Given the description of an element on the screen output the (x, y) to click on. 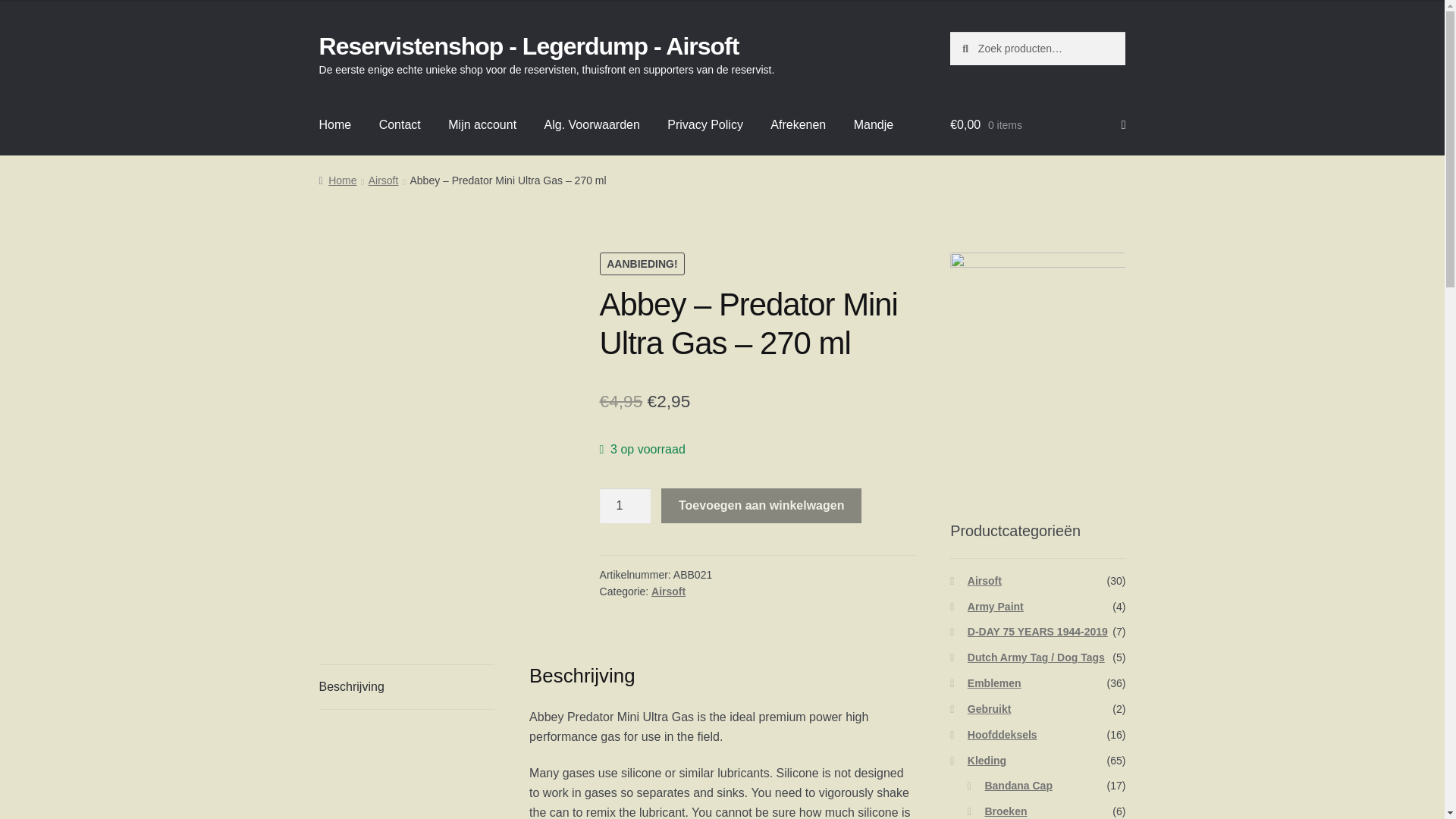
Contact (399, 124)
Mandje (873, 124)
Privacy Policy (705, 124)
Beschrijving (406, 687)
Alg. Voorwaarden (592, 124)
Mijn account (481, 124)
Reservistenshop - Legerdump - Airsoft (528, 45)
Toevoegen aan winkelwagen (761, 505)
1 (624, 505)
Home (335, 124)
Airsoft (383, 180)
Home (337, 180)
Bekijk je winkelwagen (1037, 124)
